Given the description of an element on the screen output the (x, y) to click on. 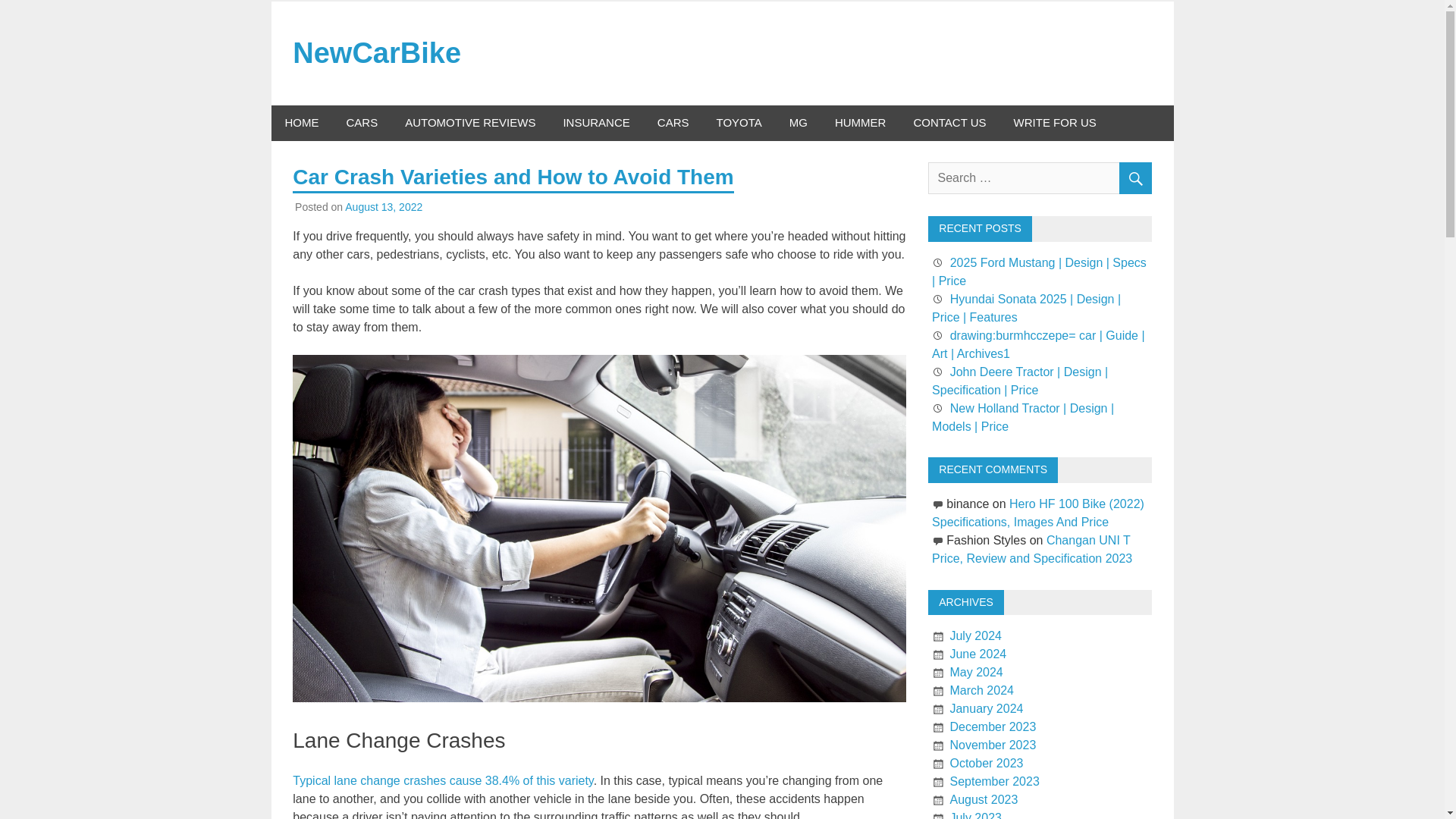
HOME (301, 122)
MG (798, 122)
3:11 pm (383, 206)
NewCarBike (376, 52)
WRITE FOR US (1054, 122)
August 13, 2022 (383, 206)
Changan UNI T Price, Review and Specification 2023 (1031, 549)
CONTACT US (948, 122)
HUMMER (860, 122)
CARS (673, 122)
INSURANCE (595, 122)
June 2024 (977, 653)
TOYOTA (737, 122)
July 2024 (975, 635)
CARS (361, 122)
